Given the description of an element on the screen output the (x, y) to click on. 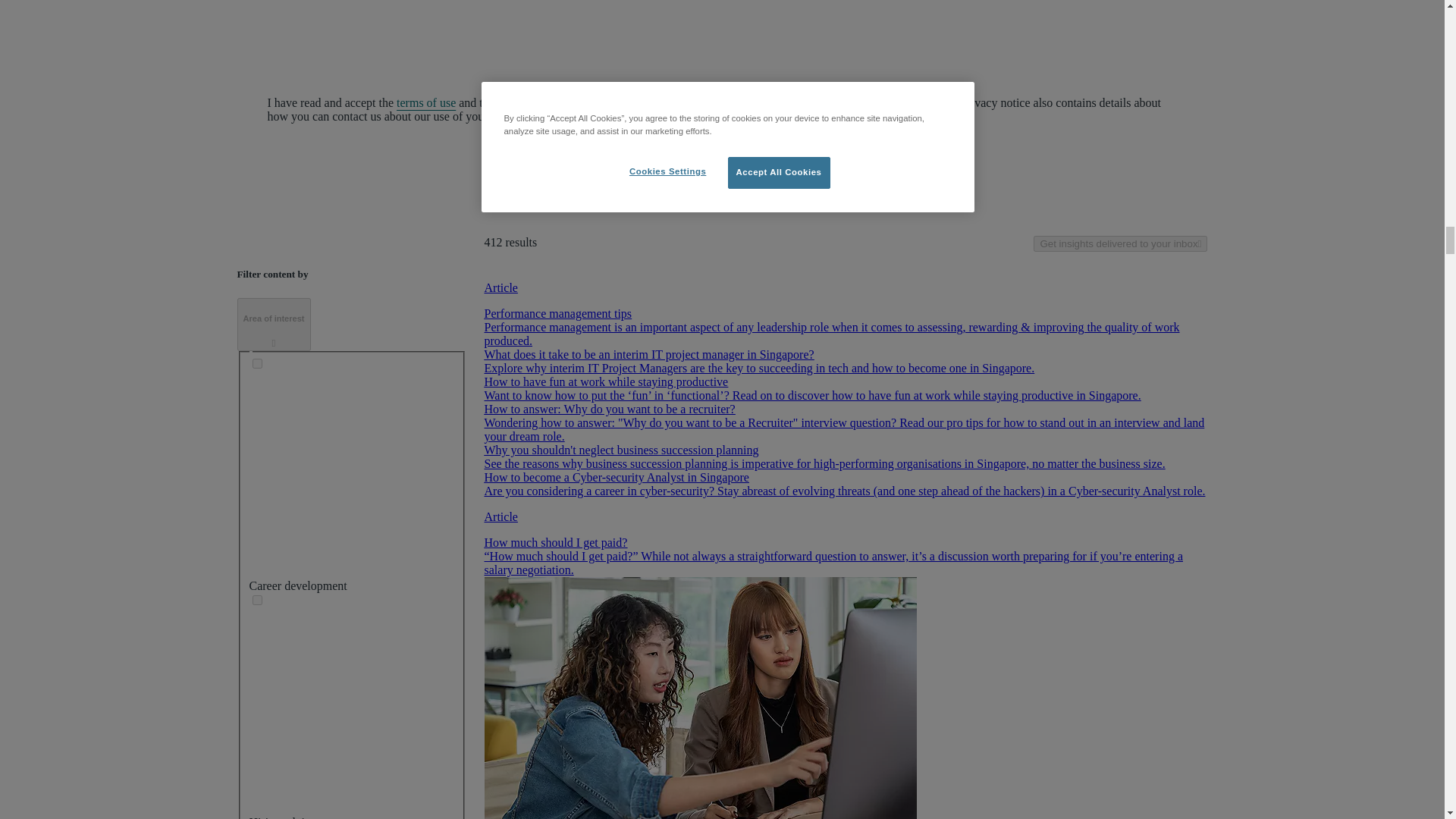
privacy notice (895, 102)
terms of use (425, 102)
